Given the description of an element on the screen output the (x, y) to click on. 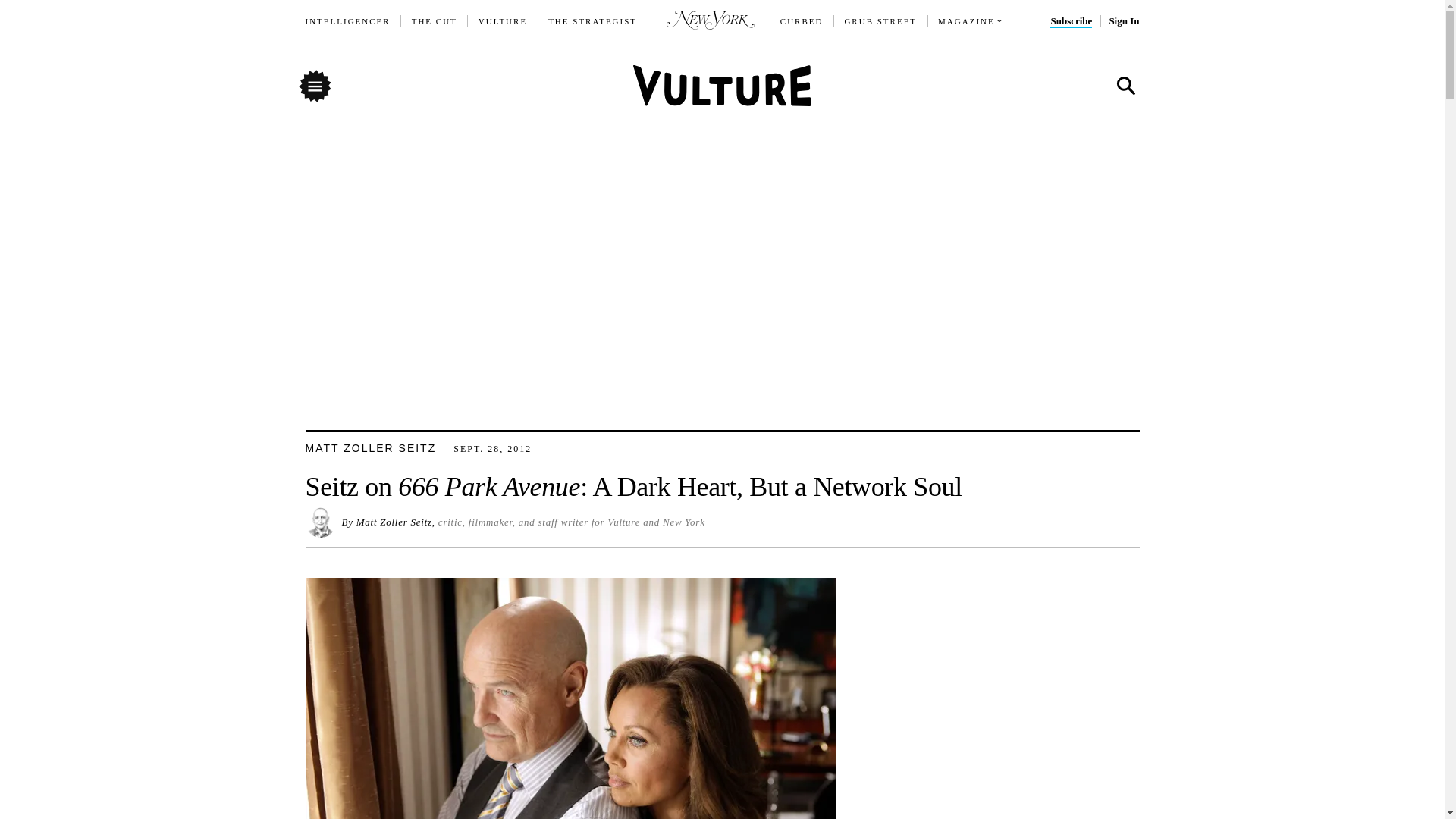
CURBED (802, 21)
Sign In (1123, 21)
THE CUT (434, 21)
GRUB STREET (880, 21)
Subscribe (1070, 21)
INTELLIGENCER (347, 21)
Menu (314, 84)
THE STRATEGIST (592, 21)
VULTURE (503, 21)
MAGAZINE (965, 21)
